Given the description of an element on the screen output the (x, y) to click on. 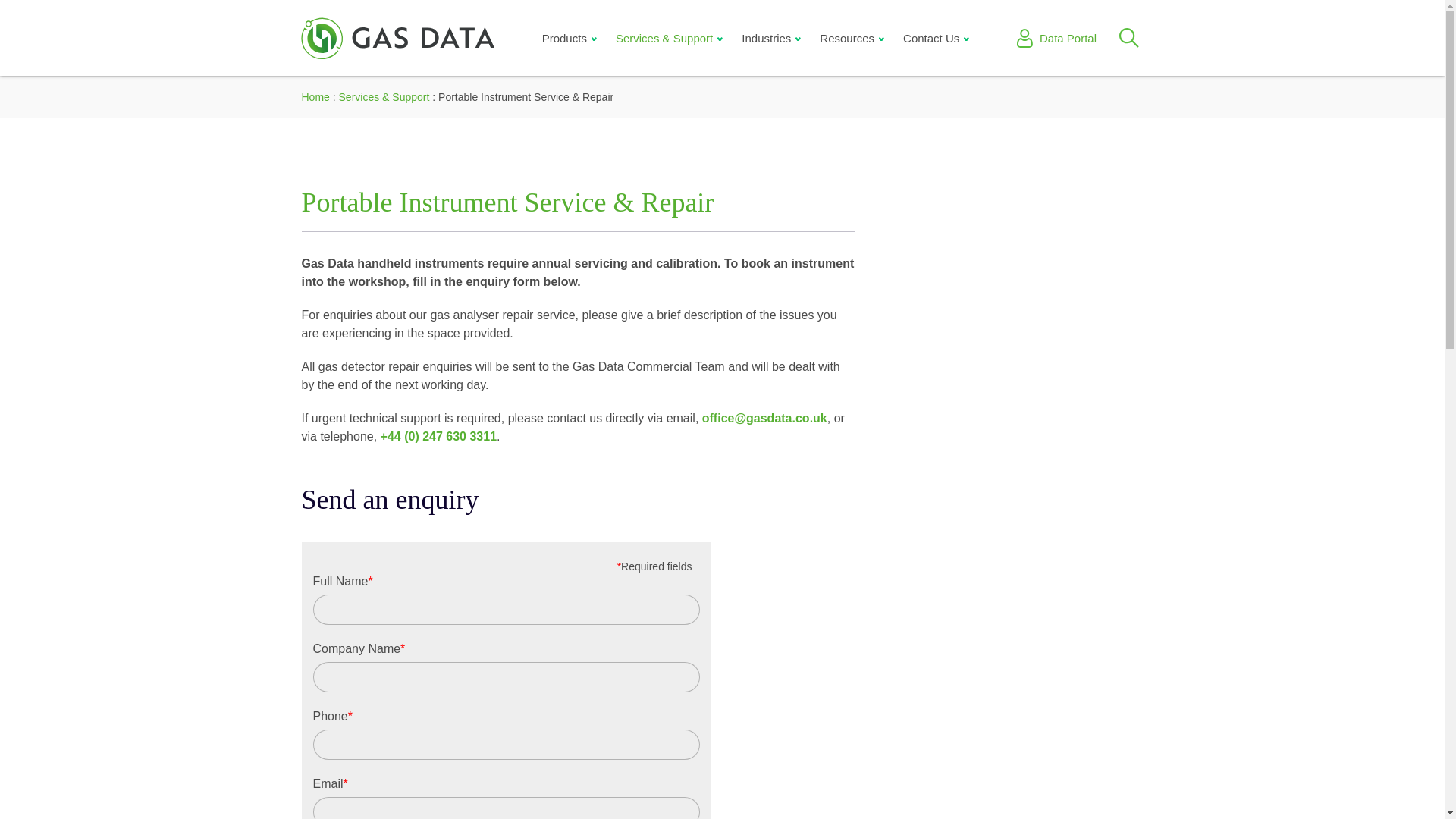
Contact Us (935, 37)
Products (568, 37)
Resources (851, 37)
Industries (770, 37)
Data Portal (1056, 37)
